Given the description of an element on the screen output the (x, y) to click on. 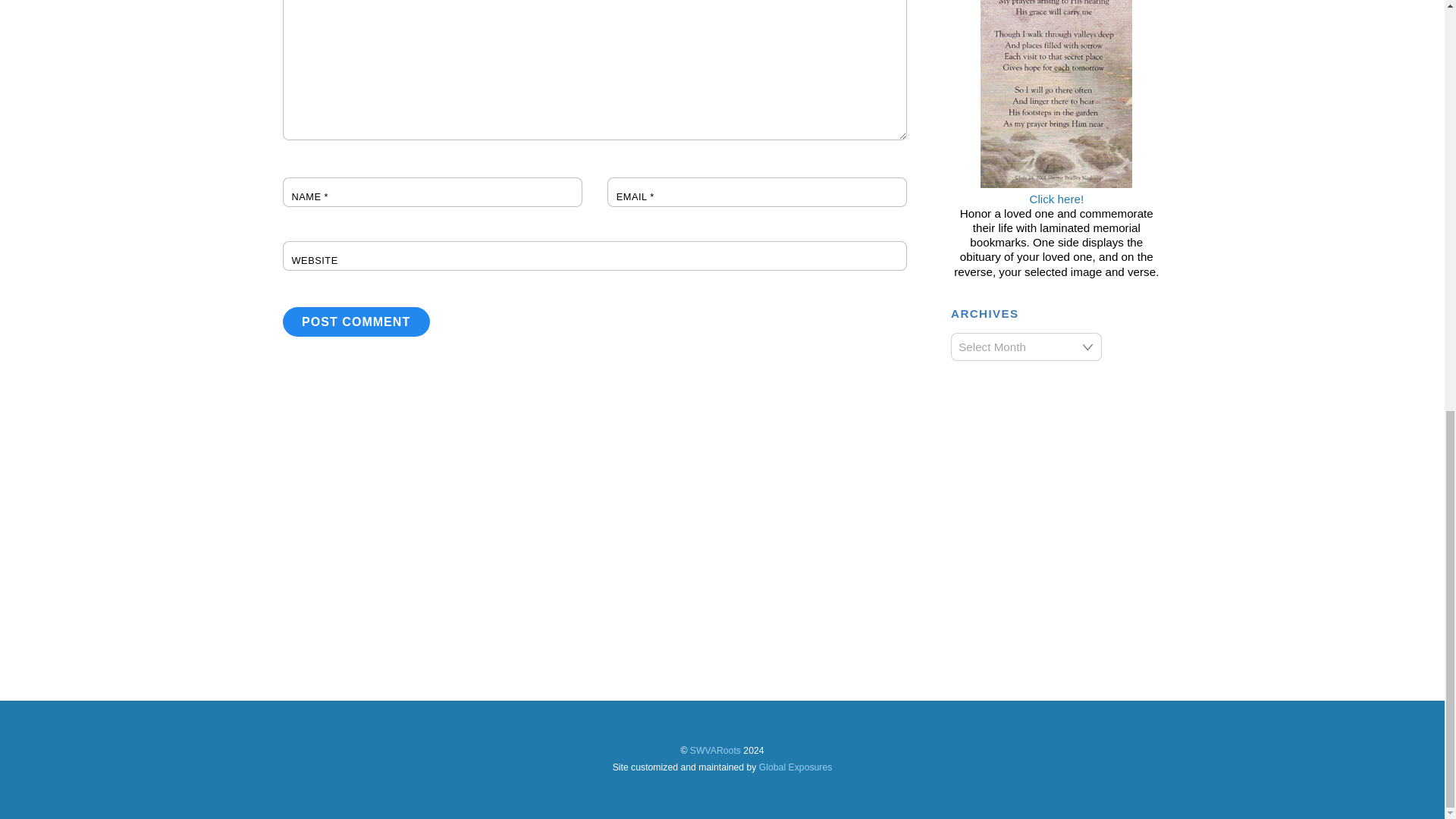
Post Comment (355, 321)
Click here! (1055, 190)
SWVARoots (715, 750)
Global Exposures (795, 767)
Post Comment (355, 321)
